Given the description of an element on the screen output the (x, y) to click on. 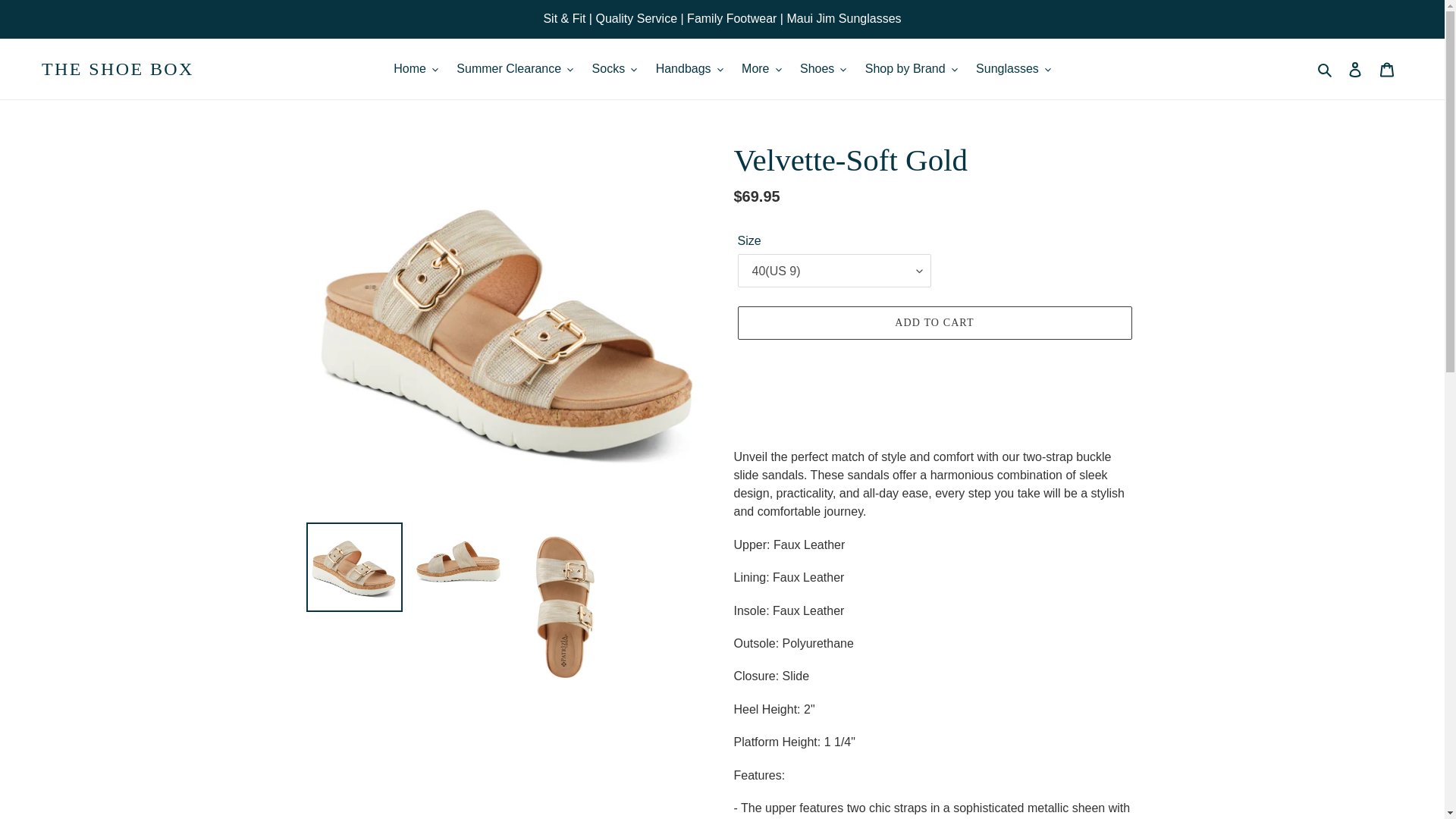
Summer Clearance (514, 68)
THE SHOE BOX (117, 69)
Home (415, 68)
Socks (615, 68)
Handbags (688, 68)
More (761, 68)
